Given the description of an element on the screen output the (x, y) to click on. 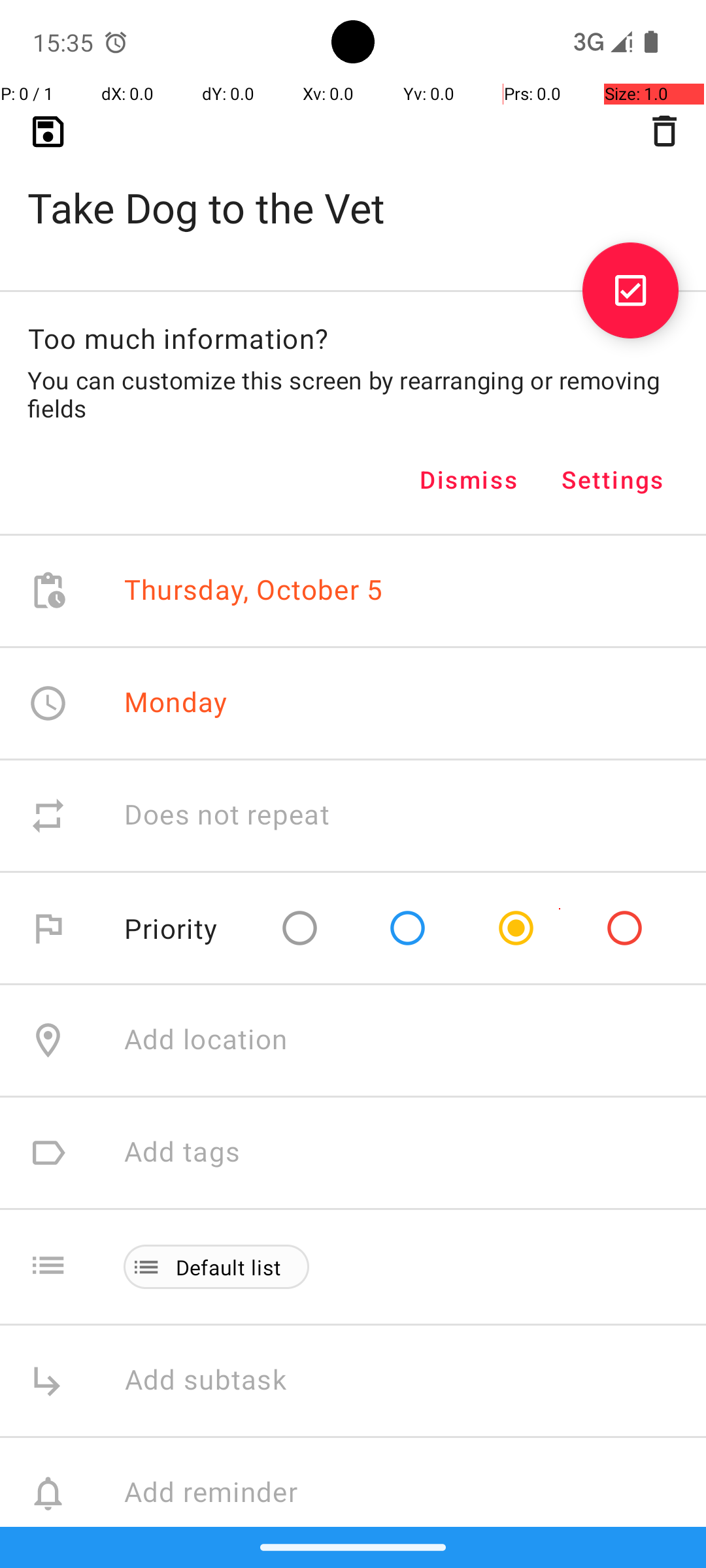
Thursday, October 5 Element type: android.widget.TextView (253, 590)
